Given the description of an element on the screen output the (x, y) to click on. 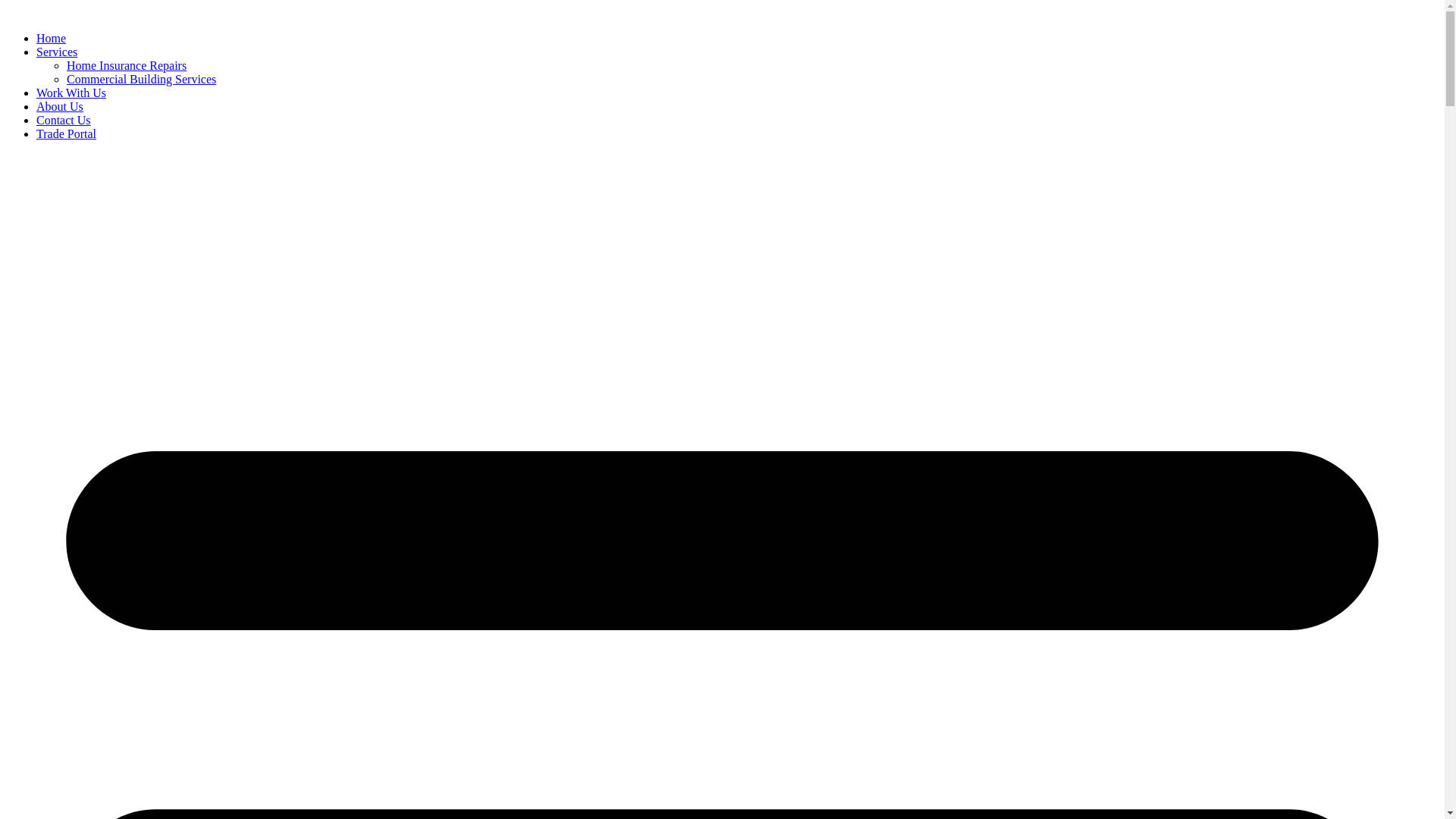
Commercial Building Services Element type: text (141, 78)
Home Element type: text (50, 37)
About Us Element type: text (59, 106)
Services Element type: text (56, 51)
Home Insurance Repairs Element type: text (126, 65)
Contact Us Element type: text (63, 119)
Work With Us Element type: text (71, 92)
Trade Portal Element type: text (66, 133)
